Given the description of an element on the screen output the (x, y) to click on. 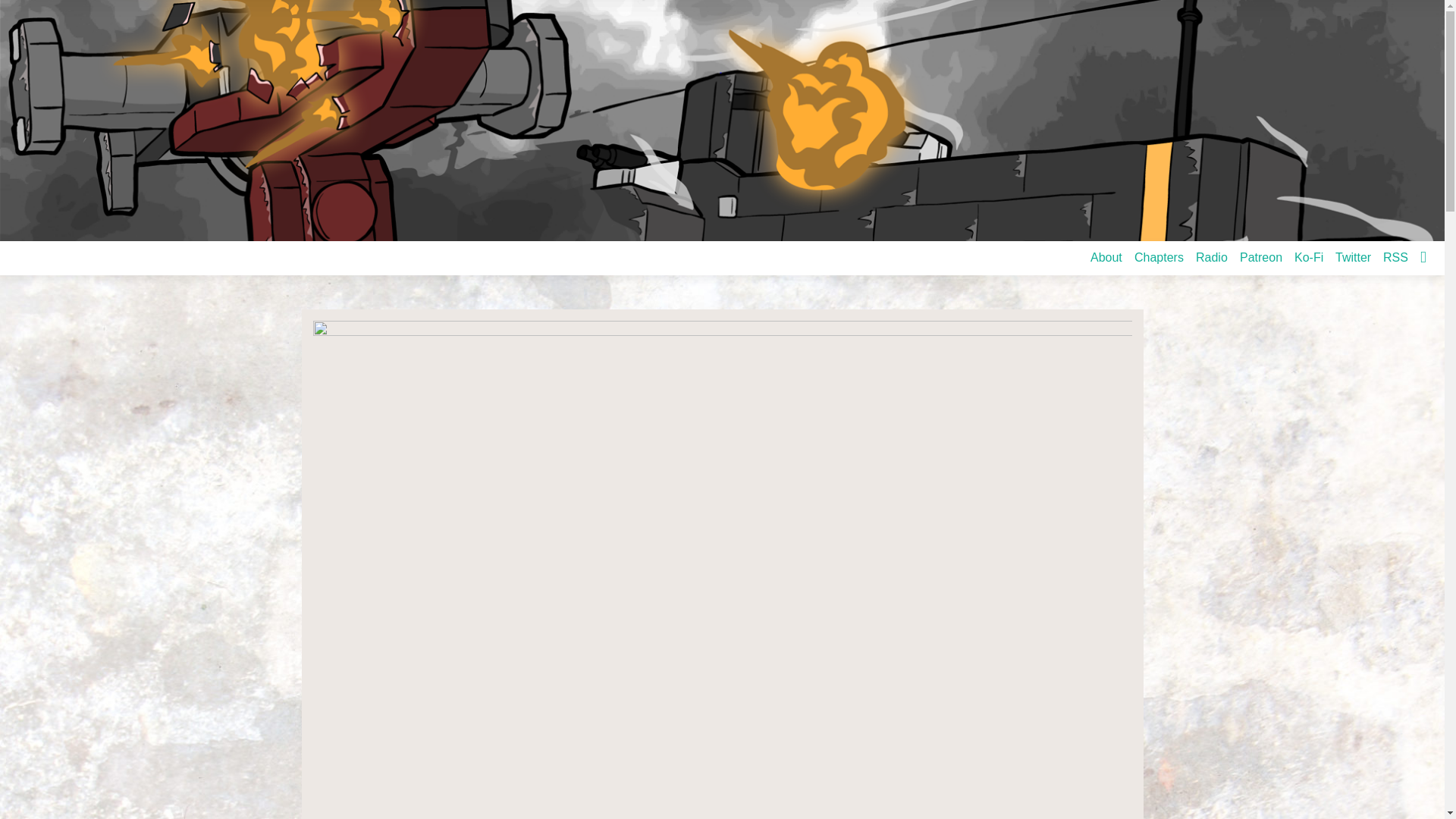
Chapters (1158, 257)
Patreon (1260, 257)
Patreon (1260, 257)
About (1106, 257)
RSS (1395, 257)
Twitter (1353, 257)
Ko-Fi (1308, 257)
Ko-Fi (1308, 257)
Chapters (1158, 257)
Twitter (1353, 257)
